Given the description of an element on the screen output the (x, y) to click on. 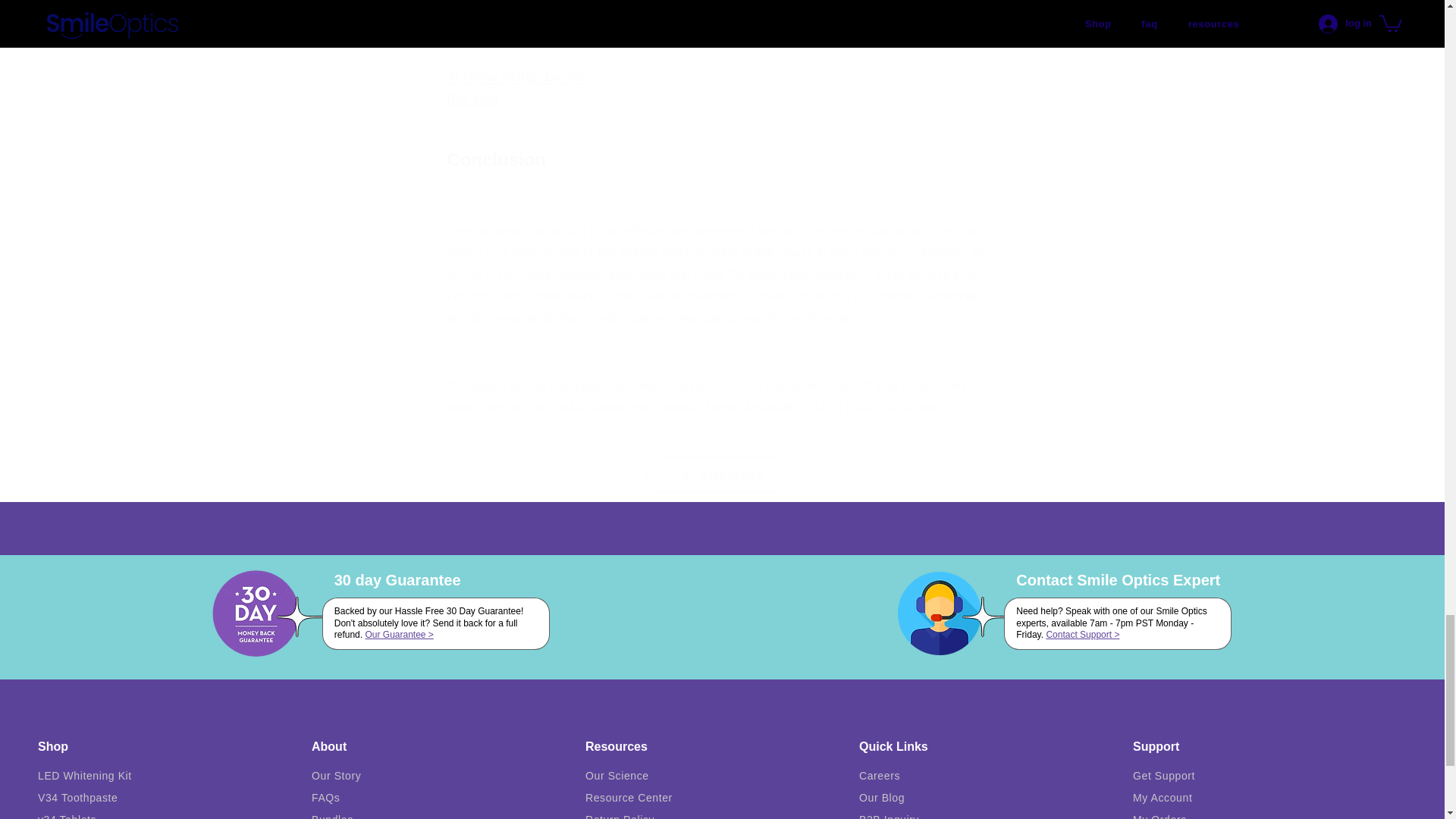
Back to blog (721, 475)
LED Whitening Kit (721, 88)
